Given the description of an element on the screen output the (x, y) to click on. 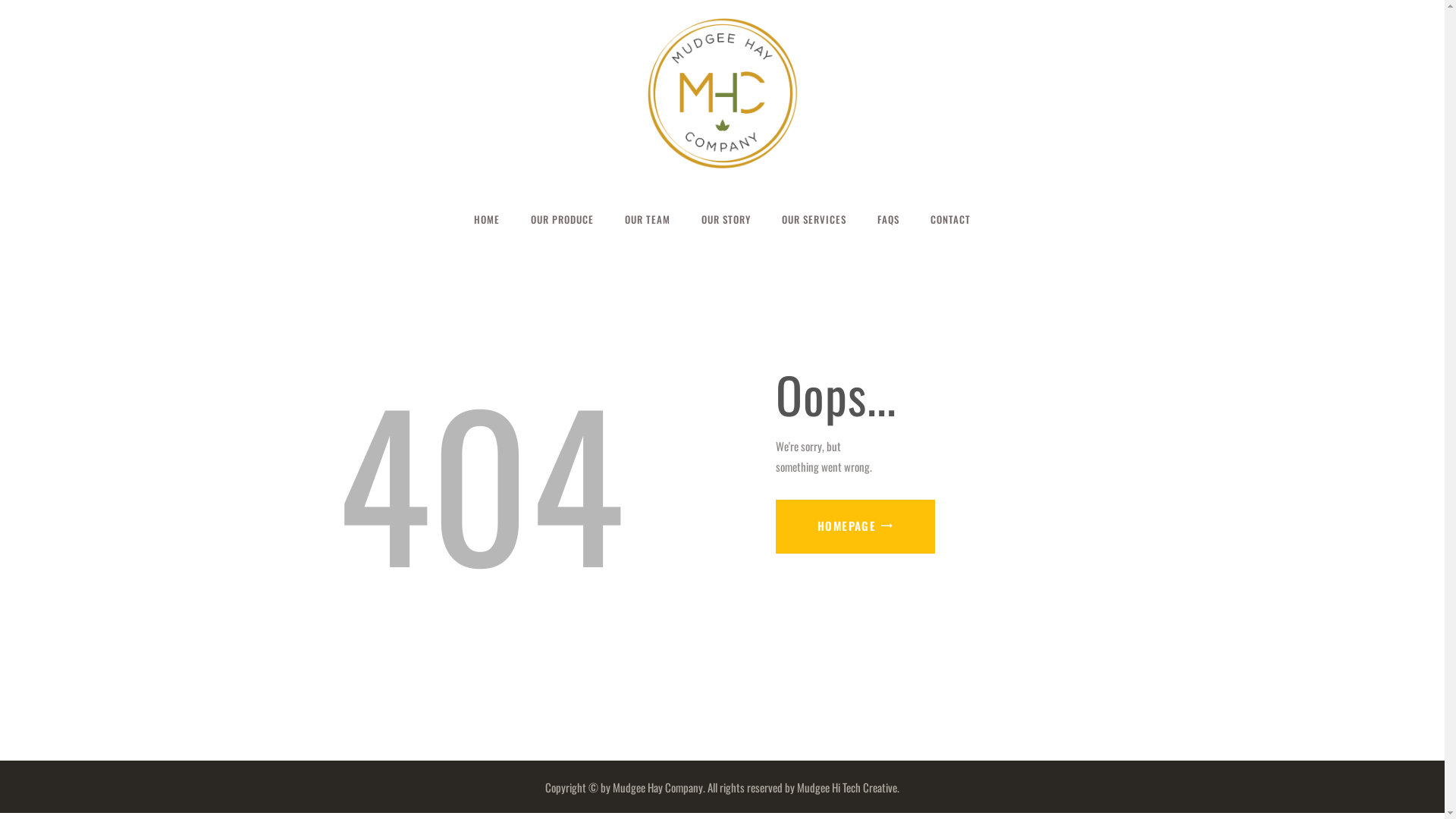
OUR TEAM Element type: text (646, 218)
OUR STORY Element type: text (725, 218)
OUR SERVICES Element type: text (814, 218)
HOMEPAGE Element type: text (855, 526)
FAQS Element type: text (888, 218)
HOME Element type: text (486, 218)
CONTACT Element type: text (950, 218)
OUR PRODUCE Element type: text (561, 218)
